Given the description of an element on the screen output the (x, y) to click on. 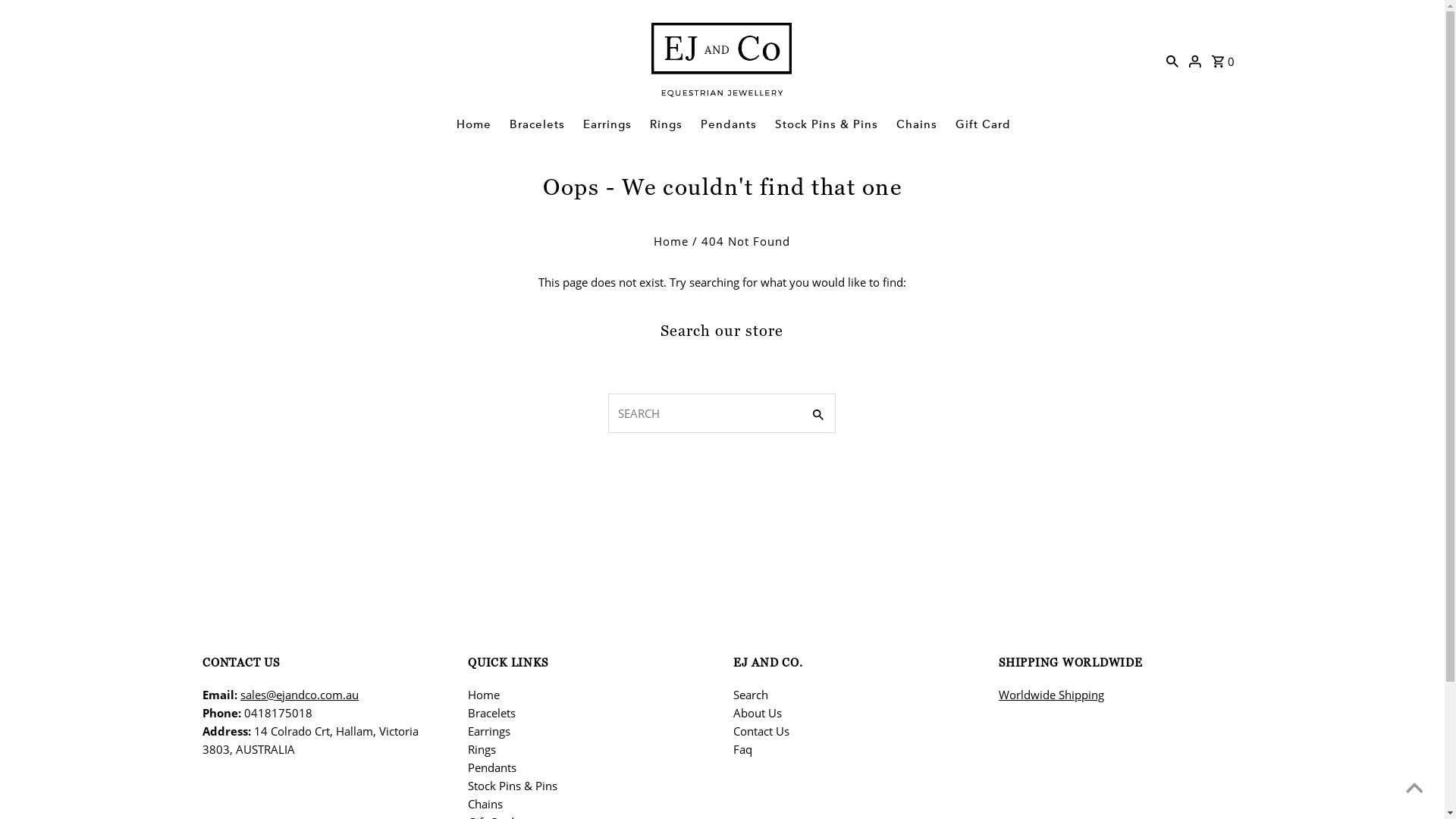
Stock Pins & Pins Element type: text (512, 785)
About Us Element type: text (757, 712)
sales@ejandco.com.au Element type: text (299, 694)
Search Element type: text (750, 694)
Bracelets Element type: text (491, 712)
Contact Us Element type: text (761, 730)
Home Element type: text (483, 694)
Home Element type: text (670, 240)
Faq Element type: text (742, 748)
Rings Element type: text (481, 748)
Chains Element type: text (916, 124)
Chains Element type: text (484, 803)
Pendants Element type: text (491, 767)
Home Element type: text (473, 124)
Gift Card Element type: text (982, 124)
Pendants Element type: text (728, 124)
Earrings Element type: text (607, 124)
Rings Element type: text (666, 124)
Earrings Element type: text (488, 730)
Worldwide Shipping Element type: text (1051, 694)
Bracelets Element type: text (537, 124)
Stock Pins & Pins Element type: text (826, 124)
